Given the description of an element on the screen output the (x, y) to click on. 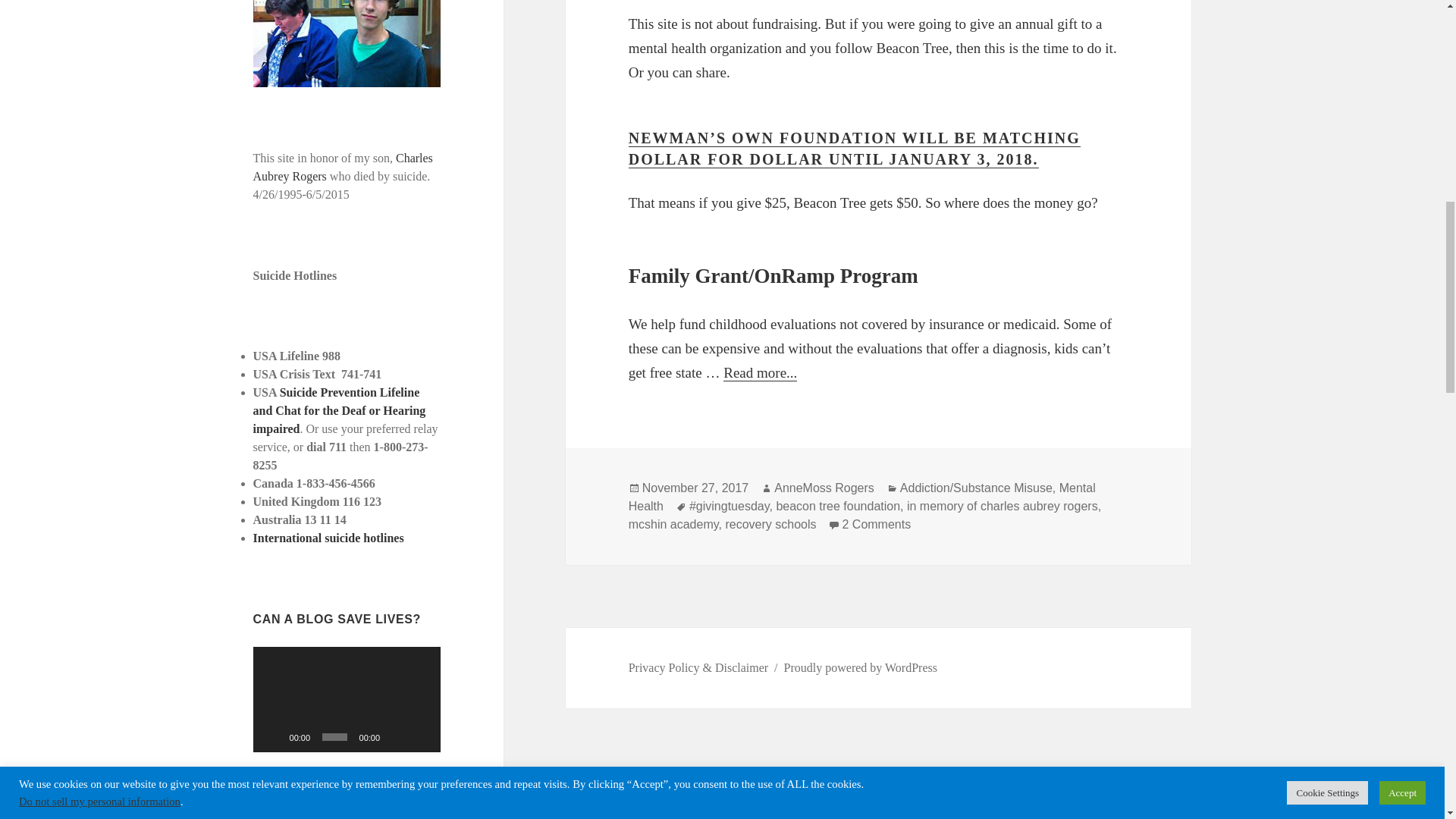
Play (272, 736)
Charles Aubrey Rogers (342, 166)
Mute (396, 736)
International suicide hotlines (328, 537)
Fullscreen (420, 736)
